Given the description of an element on the screen output the (x, y) to click on. 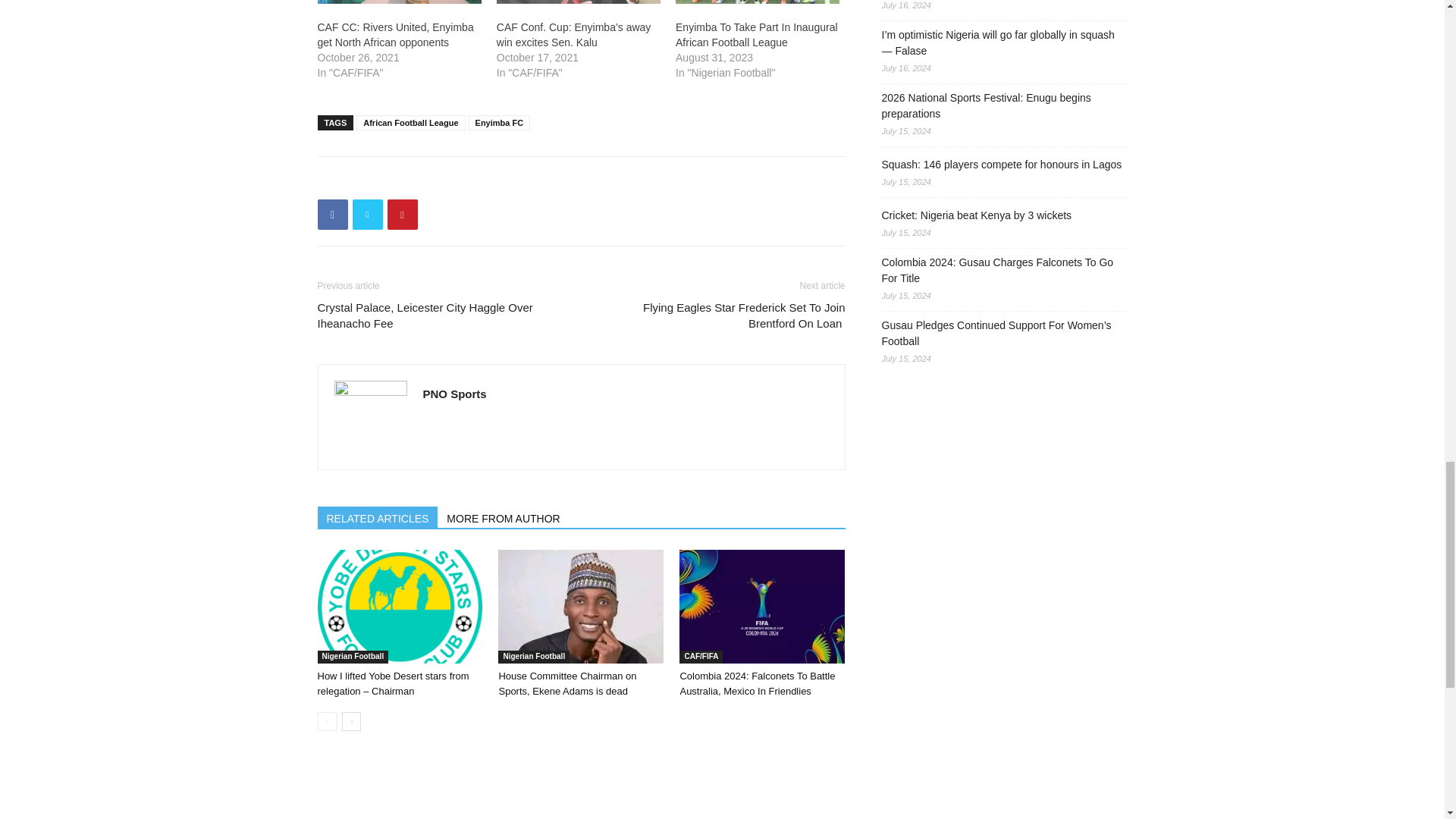
CAF CC: Rivers United, Enyimba get North African opponents (398, 2)
CAF CC: Rivers United, Enyimba get North African opponents (395, 34)
